Given the description of an element on the screen output the (x, y) to click on. 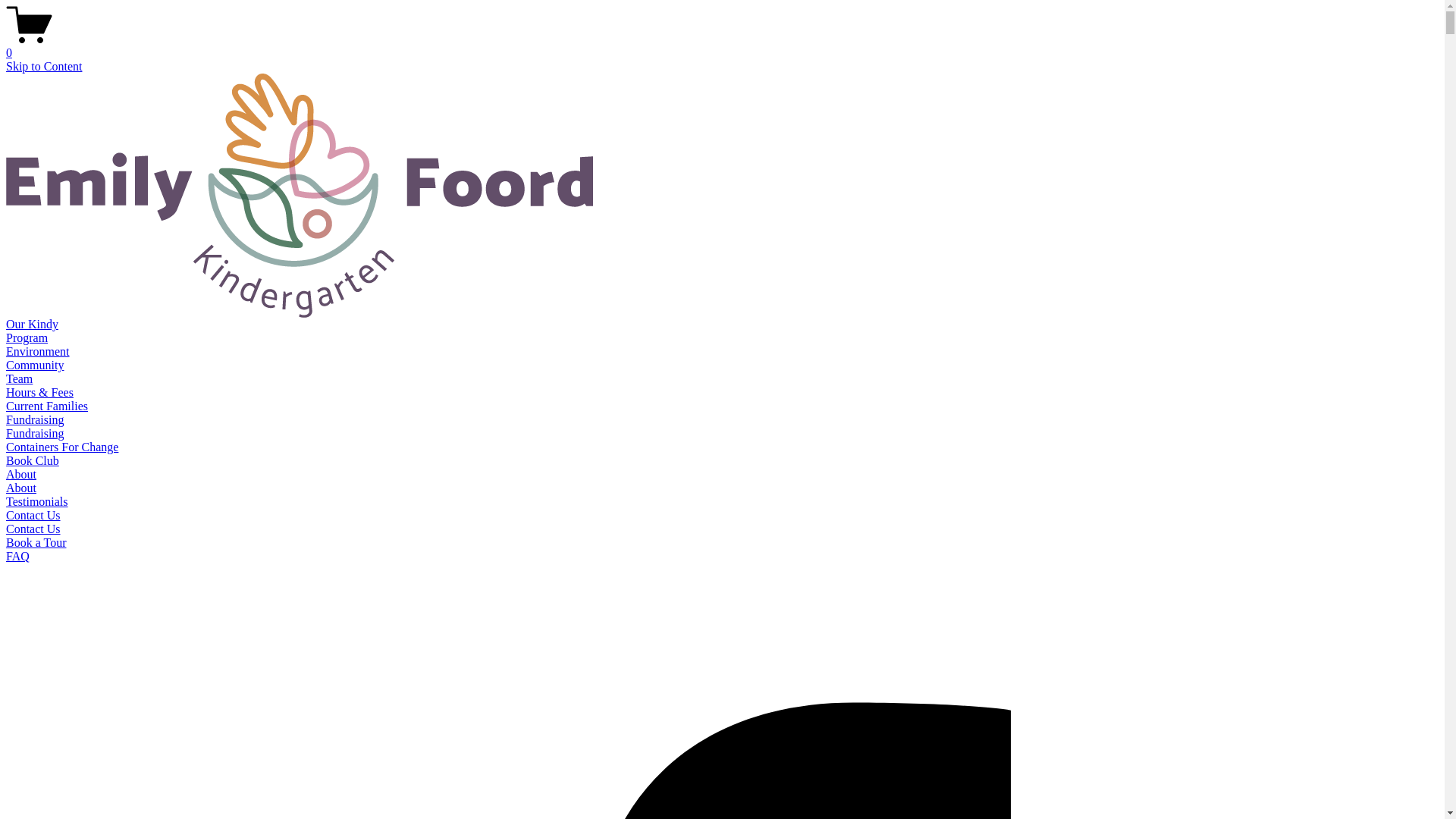
Hours & Fees Element type: text (39, 391)
Fundraising Element type: text (34, 432)
Environment Element type: text (37, 351)
0 Element type: text (722, 45)
Fundraising Element type: text (34, 419)
Book a Tour Element type: text (35, 542)
Contact Us Element type: text (33, 528)
Skip to Content Element type: text (43, 65)
Contact Us Element type: text (33, 514)
Book Club Element type: text (32, 460)
Current Families Element type: text (46, 405)
FAQ Element type: text (17, 555)
Community Element type: text (34, 364)
Team Element type: text (19, 378)
Our Kindy Element type: text (32, 323)
About Element type: text (21, 487)
About Element type: text (21, 473)
Containers For Change Element type: text (62, 446)
Program Element type: text (26, 337)
Testimonials Element type: text (37, 501)
